Given the description of an element on the screen output the (x, y) to click on. 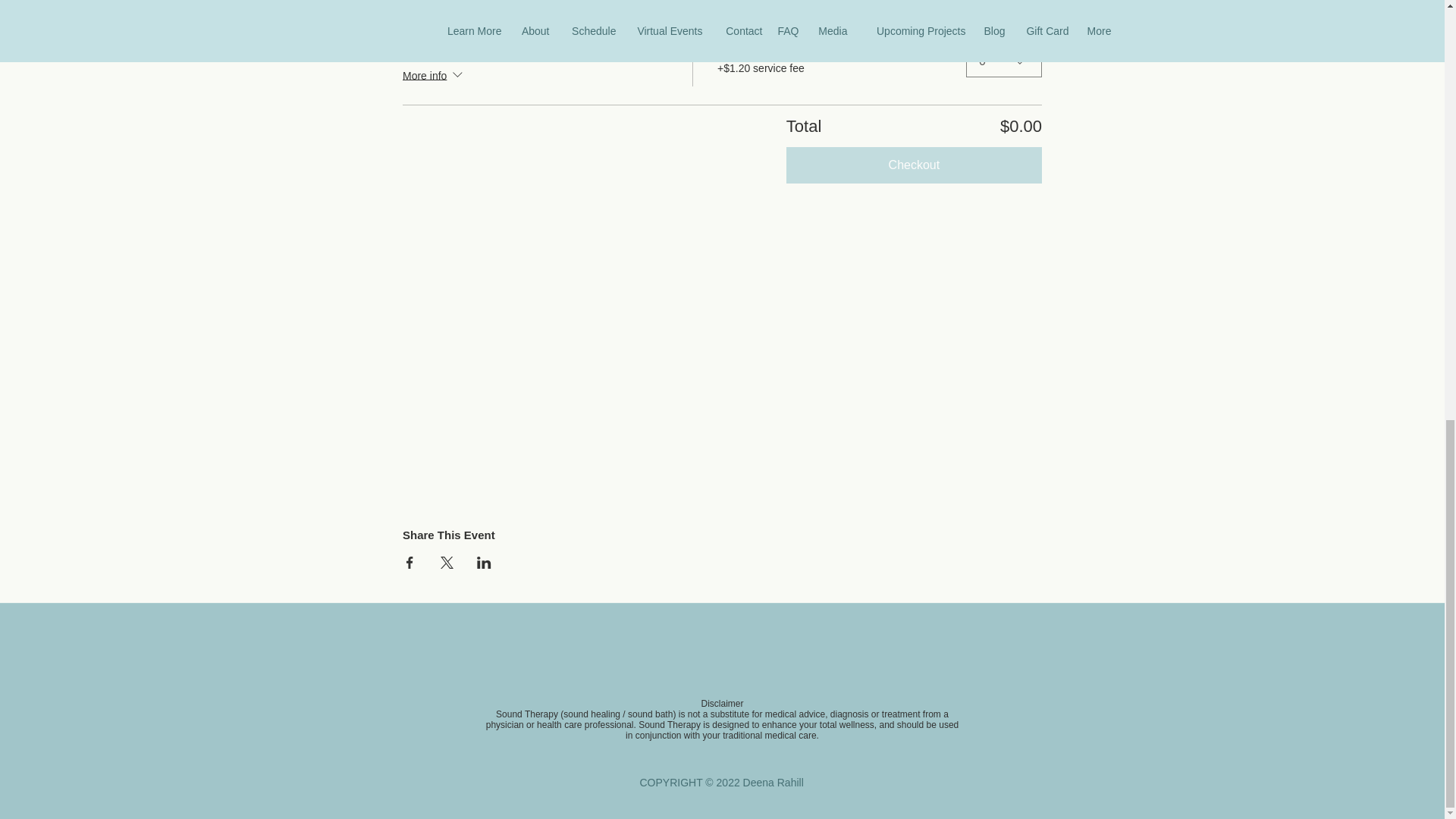
0 (1004, 60)
Checkout (914, 165)
More info (434, 76)
